Given the description of an element on the screen output the (x, y) to click on. 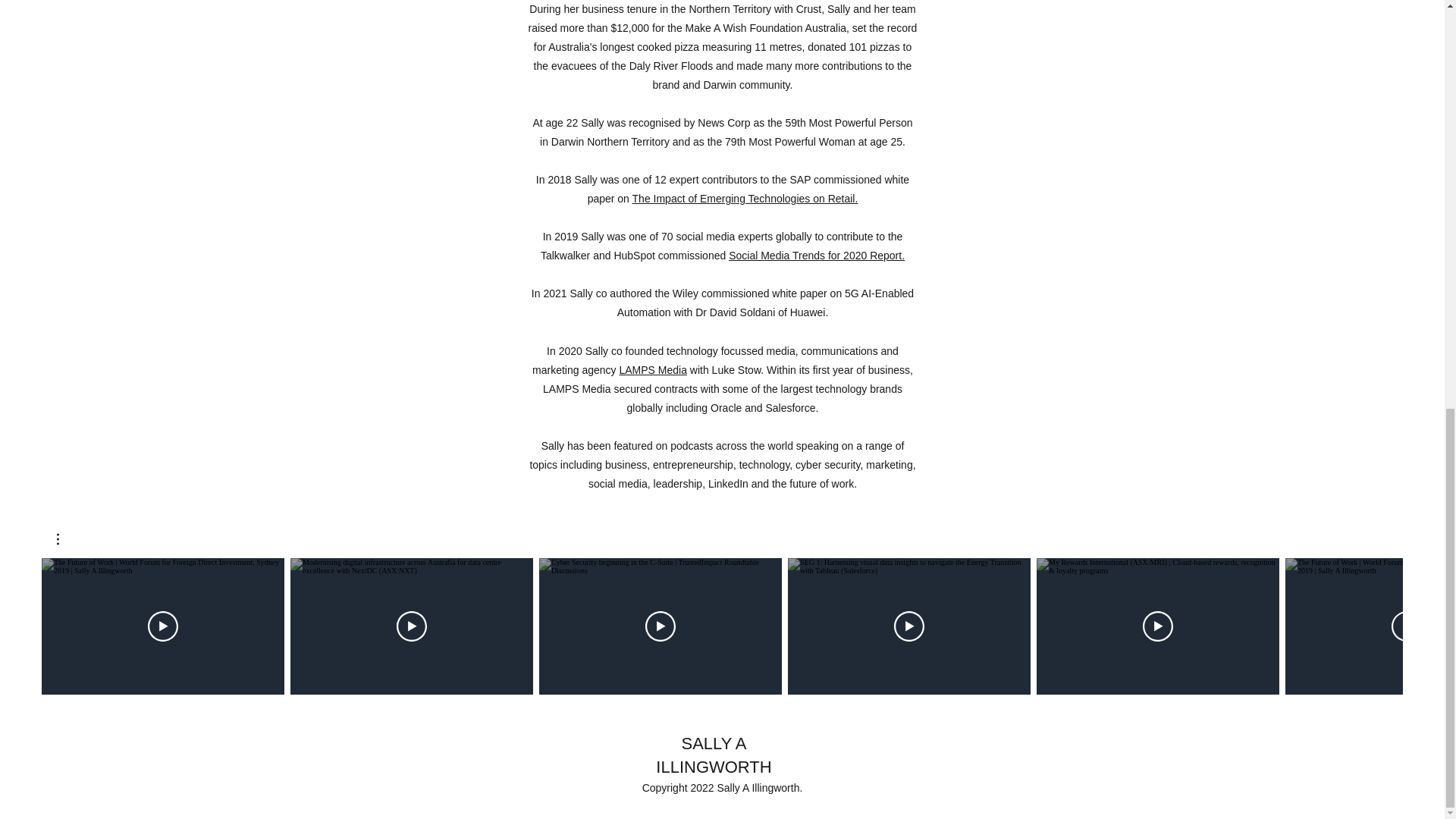
Social Media Trends for 2020 Report. (816, 255)
The Impact of Emerging Technologies on Retail. (745, 198)
LAMPS Media (651, 369)
